Given the description of an element on the screen output the (x, y) to click on. 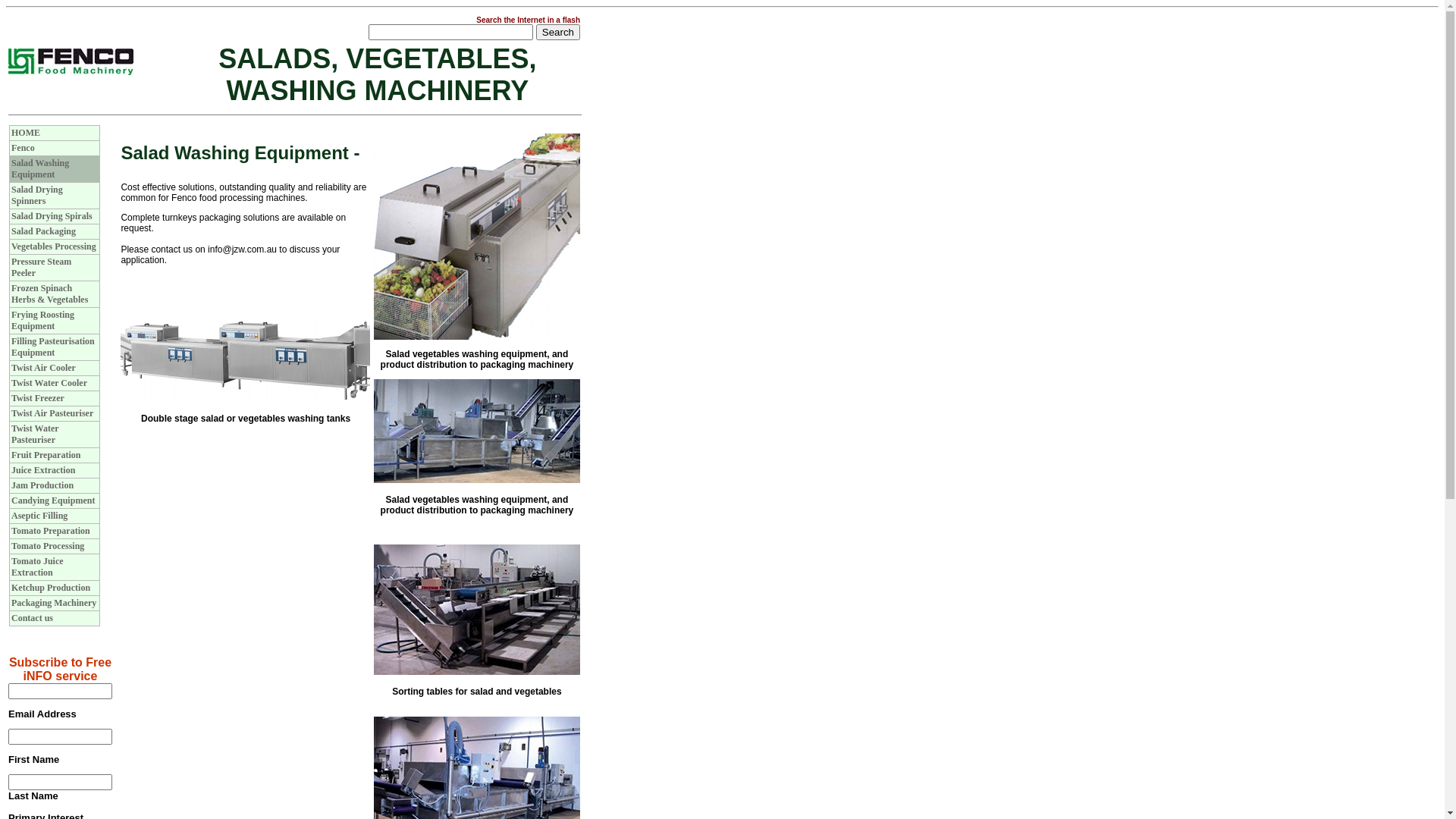
Tomato Juice Extraction Element type: text (37, 566)
Pressure Steam Peeler Element type: text (41, 267)
Juice Extraction Element type: text (43, 469)
Fruit Preparation Element type: text (45, 454)
Frozen Spinach Herbs & Vegetables Element type: text (49, 293)
HOME Element type: text (25, 132)
Tomato Preparation Element type: text (50, 530)
Frying Roosting Equipment Element type: text (42, 320)
Salad Packaging Element type: text (43, 230)
Jam Production Element type: text (42, 485)
Aseptic Filling Element type: text (39, 515)
Tomato Processing Element type: text (47, 545)
Packaging Machinery Element type: text (53, 602)
Twist Air Pasteuriser Element type: text (52, 412)
Salad Washing Equipment Element type: text (40, 168)
Contact us Element type: text (32, 617)
Twist Water Cooler Element type: text (49, 382)
Fenco Element type: text (22, 147)
Twist Water Pasteuriser Element type: text (34, 434)
Search Element type: text (558, 32)
Twist Freezer Element type: text (37, 397)
Ketchup Production Element type: text (50, 587)
Twist Air Cooler Element type: text (43, 367)
Salad Drying Spinners Element type: text (36, 195)
Salad Drying Spirals Element type: text (51, 215)
Candying Equipment Element type: text (52, 500)
Filling Pasteurisation Equipment Element type: text (52, 346)
Vegetables Processing Element type: text (53, 246)
